Given the description of an element on the screen output the (x, y) to click on. 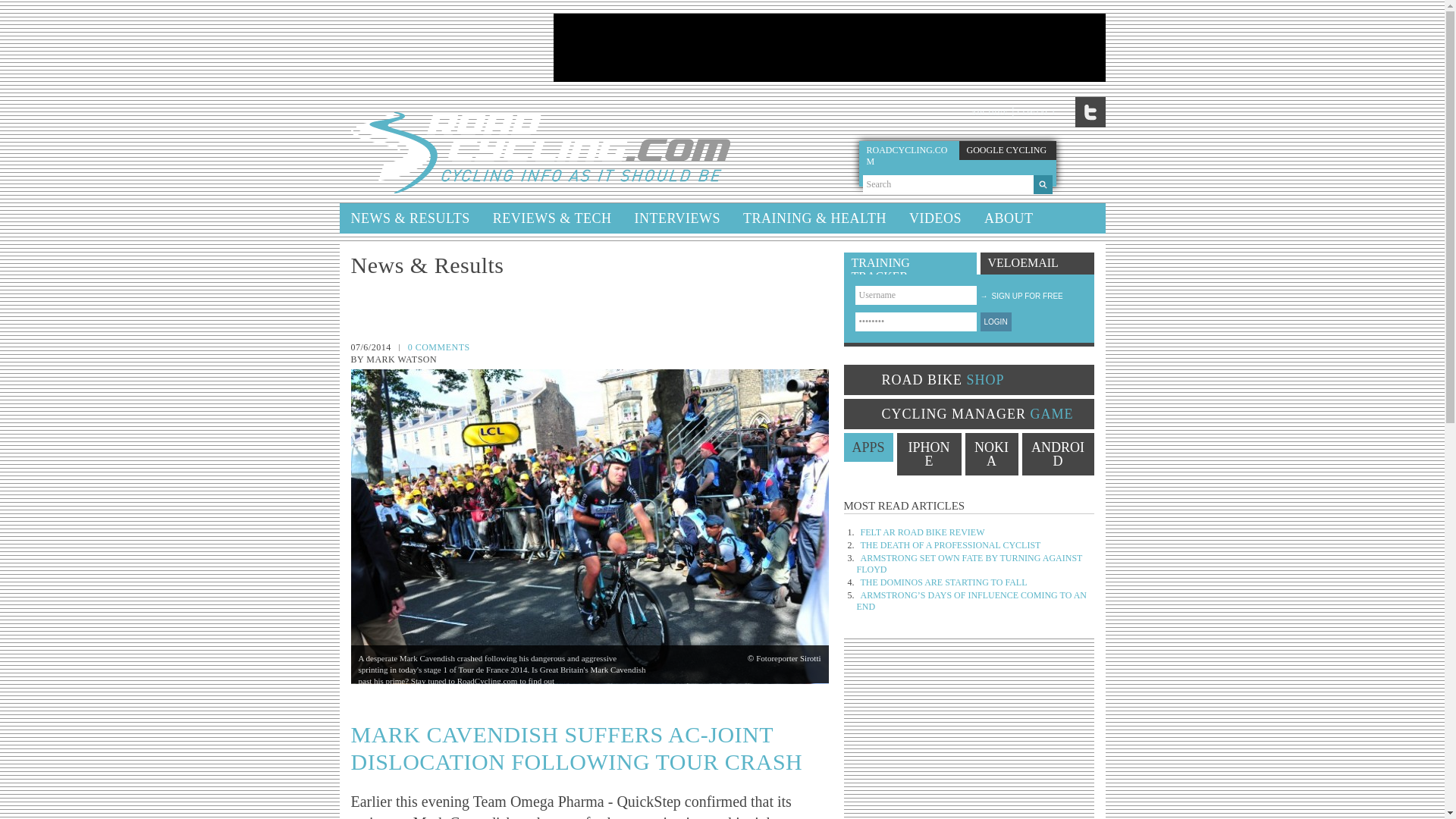
CONTACT (1035, 112)
LOGIN (994, 321)
RoadCycling.com - Cycling info as it should be (540, 150)
IPHONE (928, 454)
INTERVIEWS (677, 218)
VIDEOS (935, 218)
ABOUT (1008, 218)
NOKIA (990, 454)
ARCHIVE (989, 112)
Username (916, 294)
ANDROID (1058, 454)
Password (916, 321)
FELT AR ROAD BIKE REVIEW (922, 532)
0 COMMENTS (438, 346)
ROAD BIKE SHOP (968, 379)
